Given the description of an element on the screen output the (x, y) to click on. 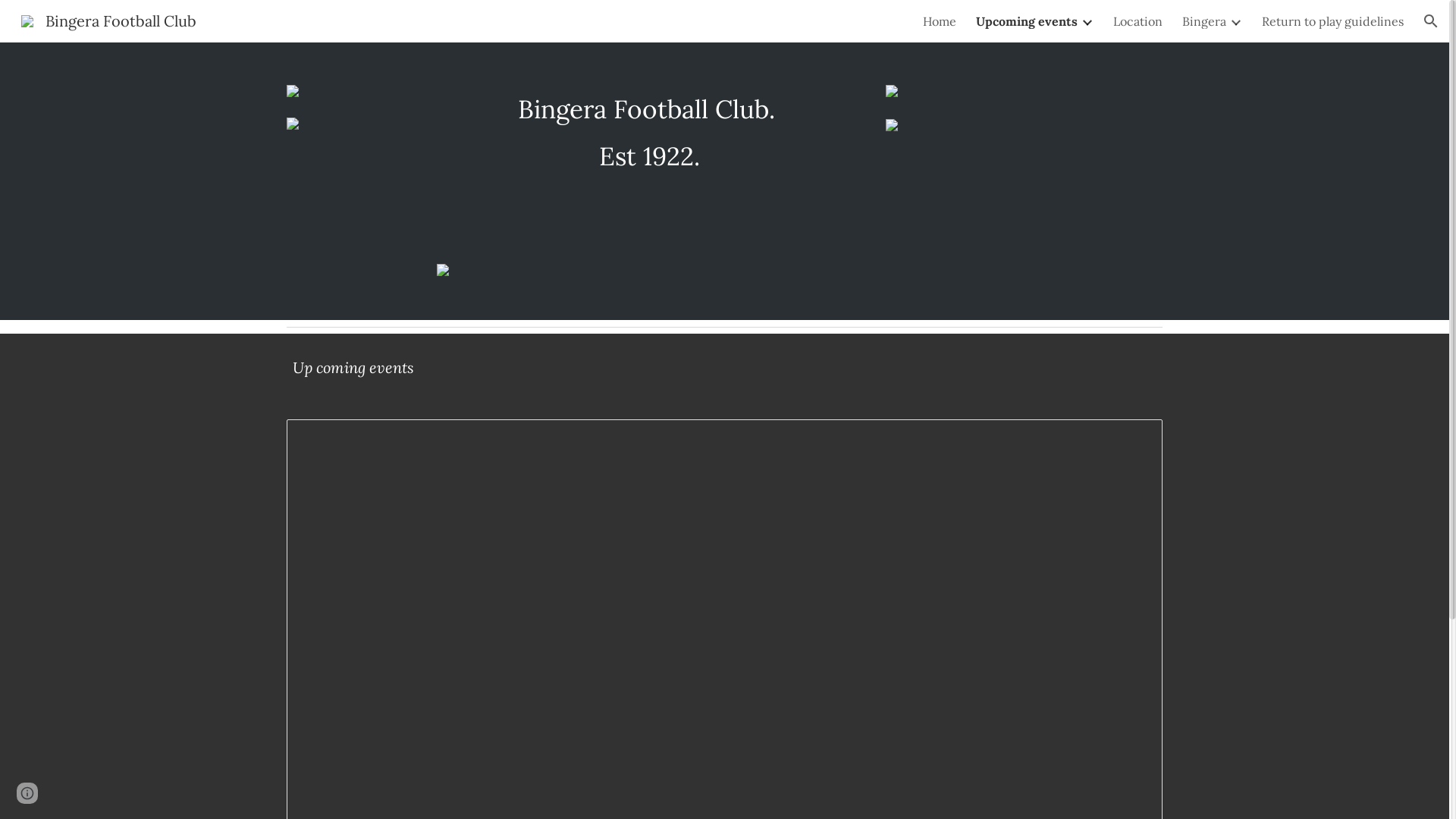
Upcoming events Element type: text (1026, 20)
Home Element type: text (939, 20)
Bingera Element type: text (1204, 20)
Bingera Football Club Element type: text (108, 18)
Location Element type: text (1137, 20)
Return to play guidelines Element type: text (1332, 20)
Expand/Collapse Element type: hover (1235, 20)
Expand/Collapse Element type: hover (1086, 20)
